Given the description of an element on the screen output the (x, y) to click on. 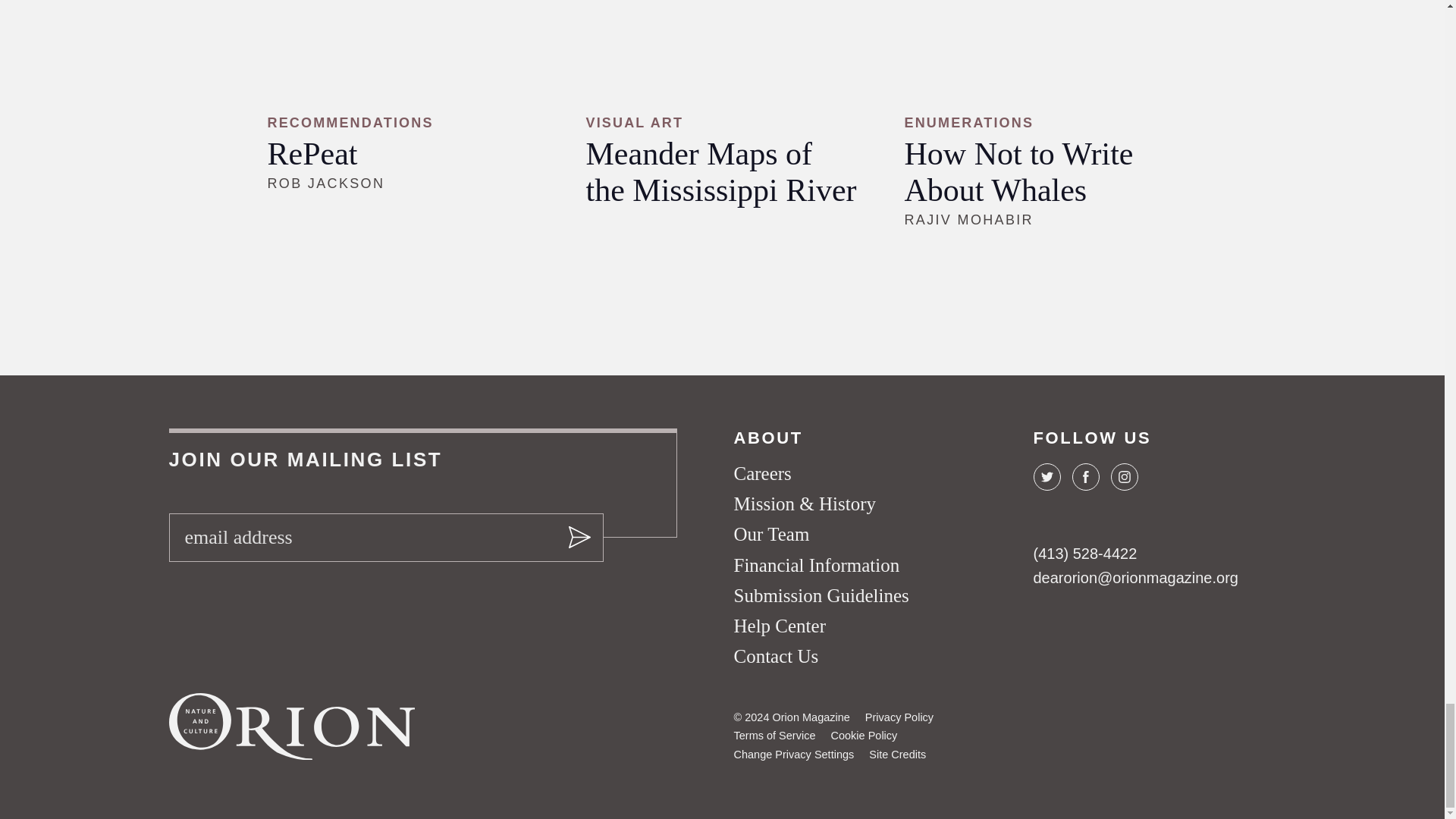
On Facebook (1085, 476)
On Twitter (1045, 476)
On Instagram (1123, 476)
